Given the description of an element on the screen output the (x, y) to click on. 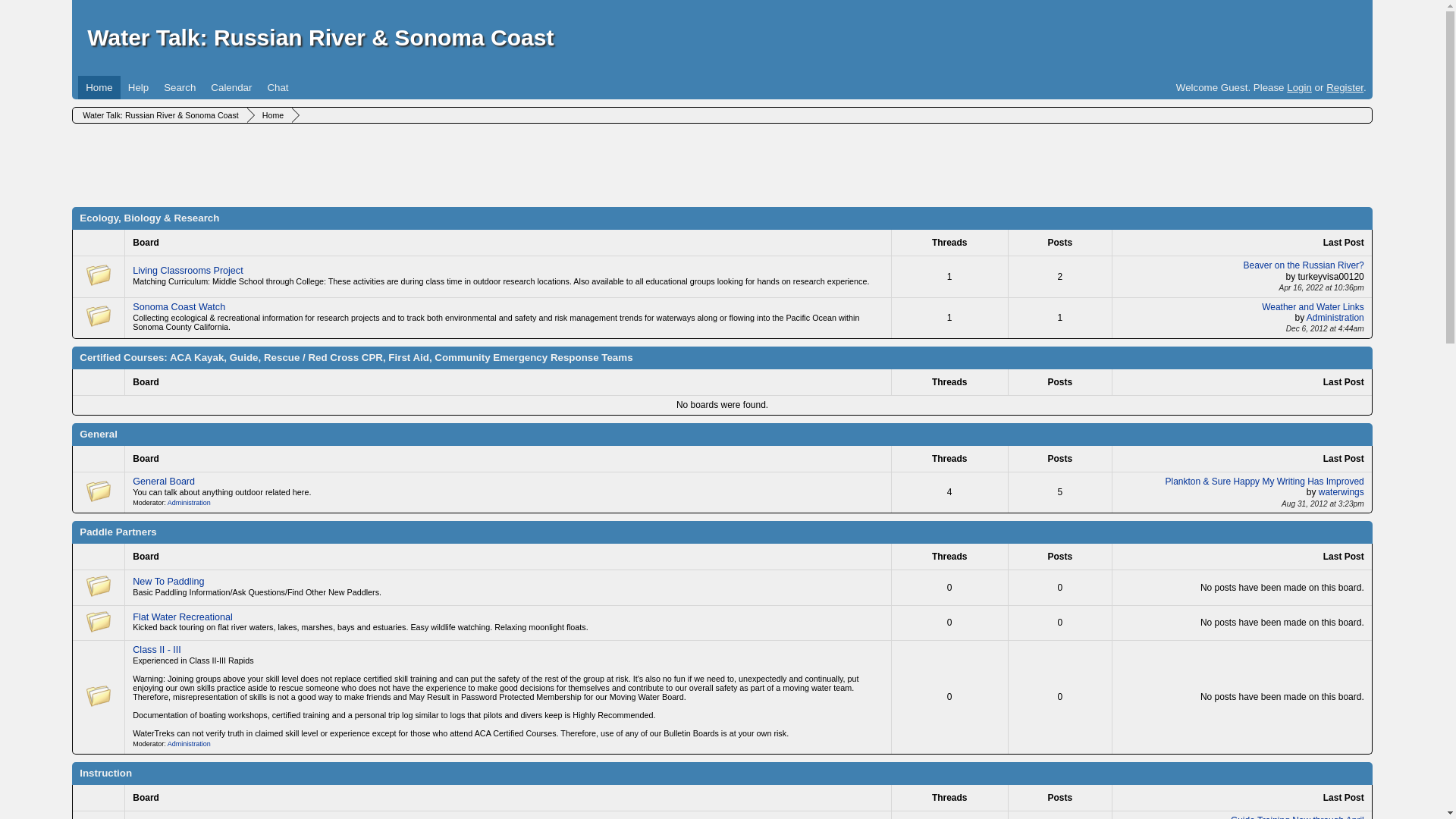
No New Posts (97, 274)
Home (99, 87)
No New Posts (97, 586)
Chat (277, 87)
No New Posts (97, 621)
Beaver on the Russian River? (1303, 265)
Living Classrooms Project (187, 270)
Weather and Water Links (1313, 307)
No New Posts (97, 491)
Help (137, 87)
Calendar (231, 87)
No New Posts (97, 695)
